Given the description of an element on the screen output the (x, y) to click on. 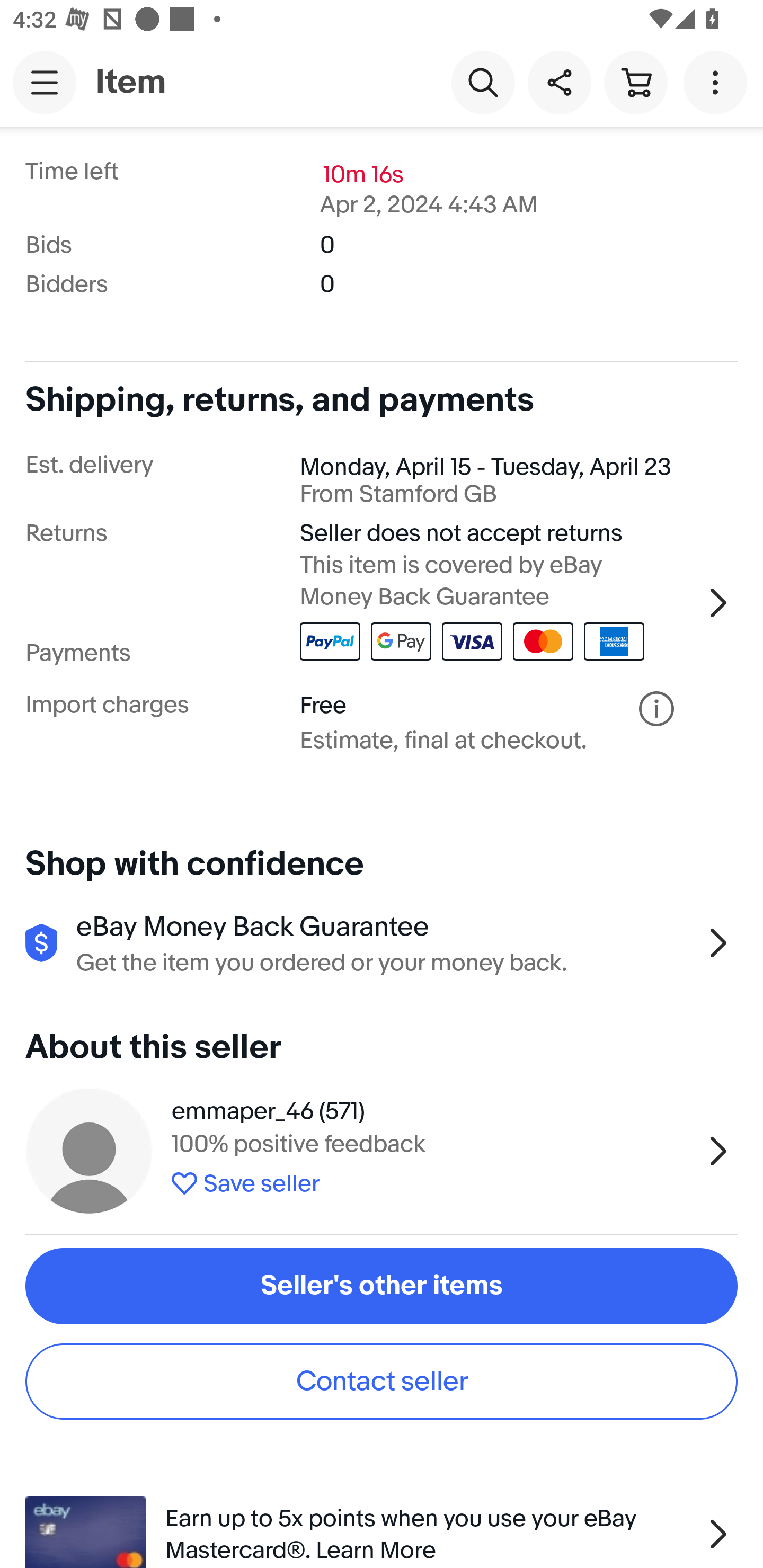
Main navigation, open (44, 82)
Search (482, 81)
Share this item (559, 81)
Cart button shopping cart (635, 81)
More options (718, 81)
Terms and conditions - Import charges (656, 708)
Save seller (431, 1180)
Seller's other items (381, 1286)
Contact seller (381, 1381)
